Given the description of an element on the screen output the (x, y) to click on. 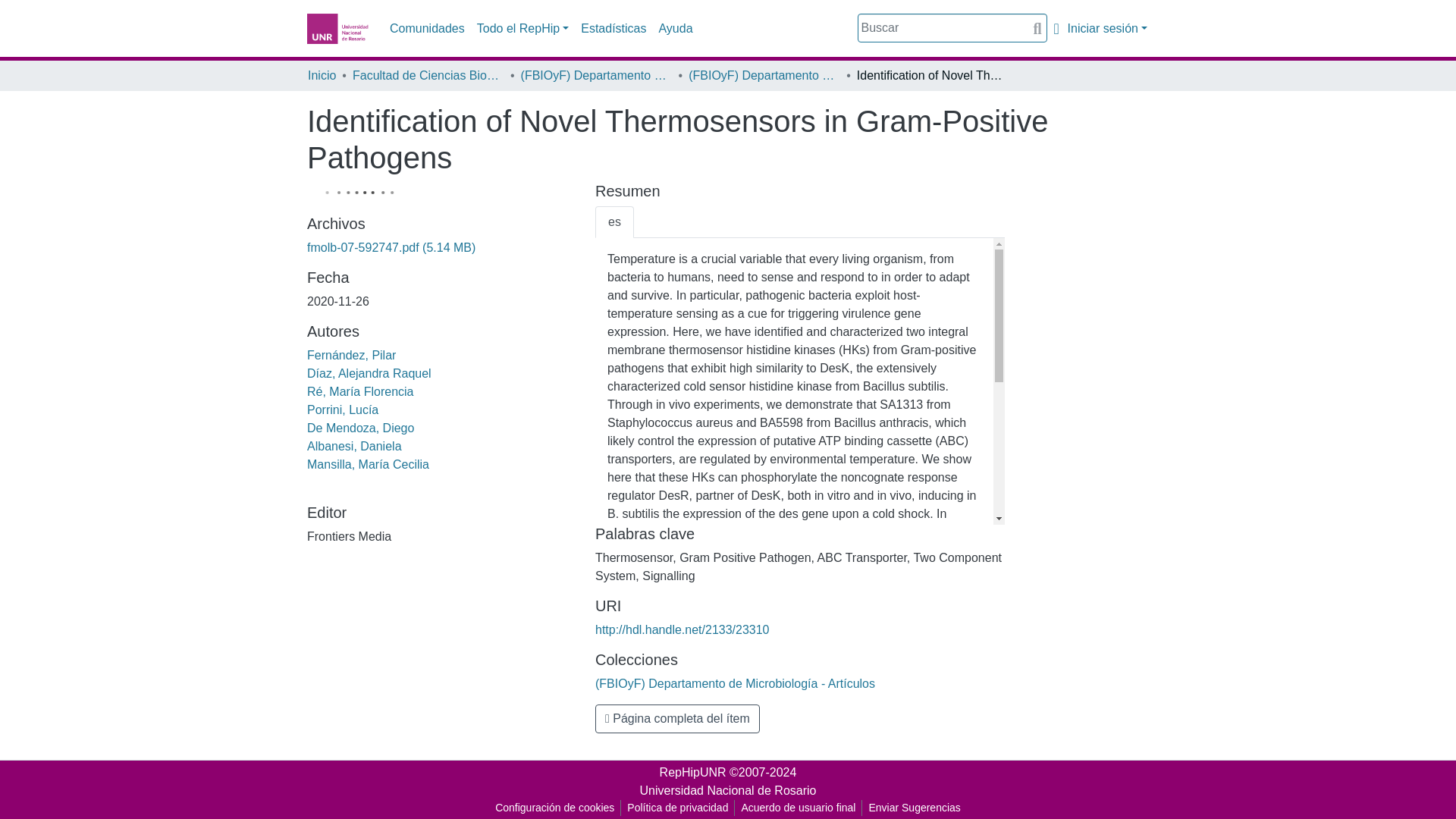
De Mendoza, Diego (360, 427)
Albanesi, Daniela (354, 445)
Inicio (321, 75)
Comunidades (427, 28)
es (614, 222)
Comunidades (427, 28)
Universidad Nacional de Rosario (727, 789)
RepHipUNR (692, 771)
Cambio de idioma (1055, 28)
Ayuda (675, 28)
Buscar (1036, 28)
Todo el RepHip (522, 28)
